Given the description of an element on the screen output the (x, y) to click on. 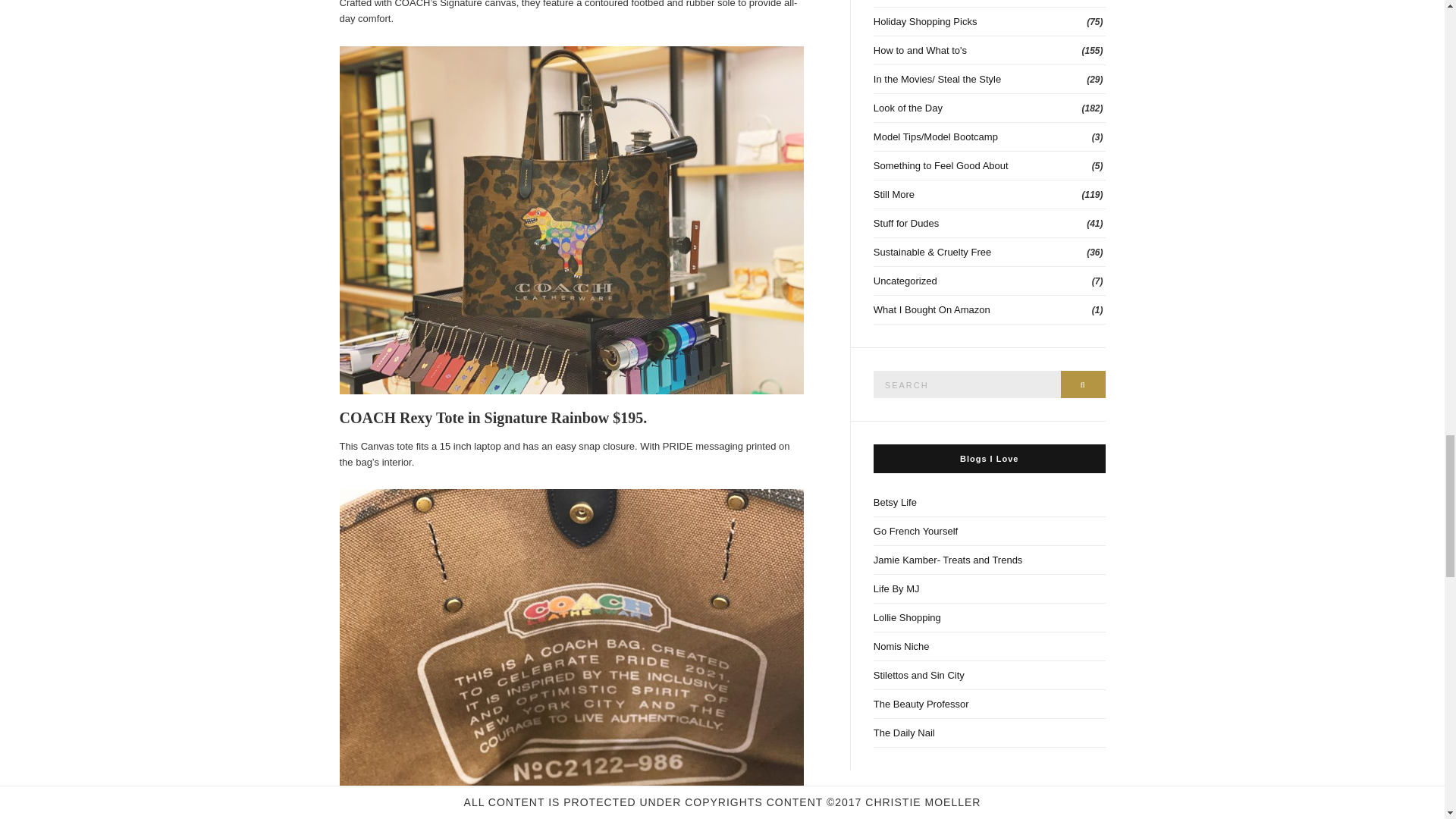
Holiday Shopping Picks (989, 21)
How to and What to's (989, 50)
